Given the description of an element on the screen output the (x, y) to click on. 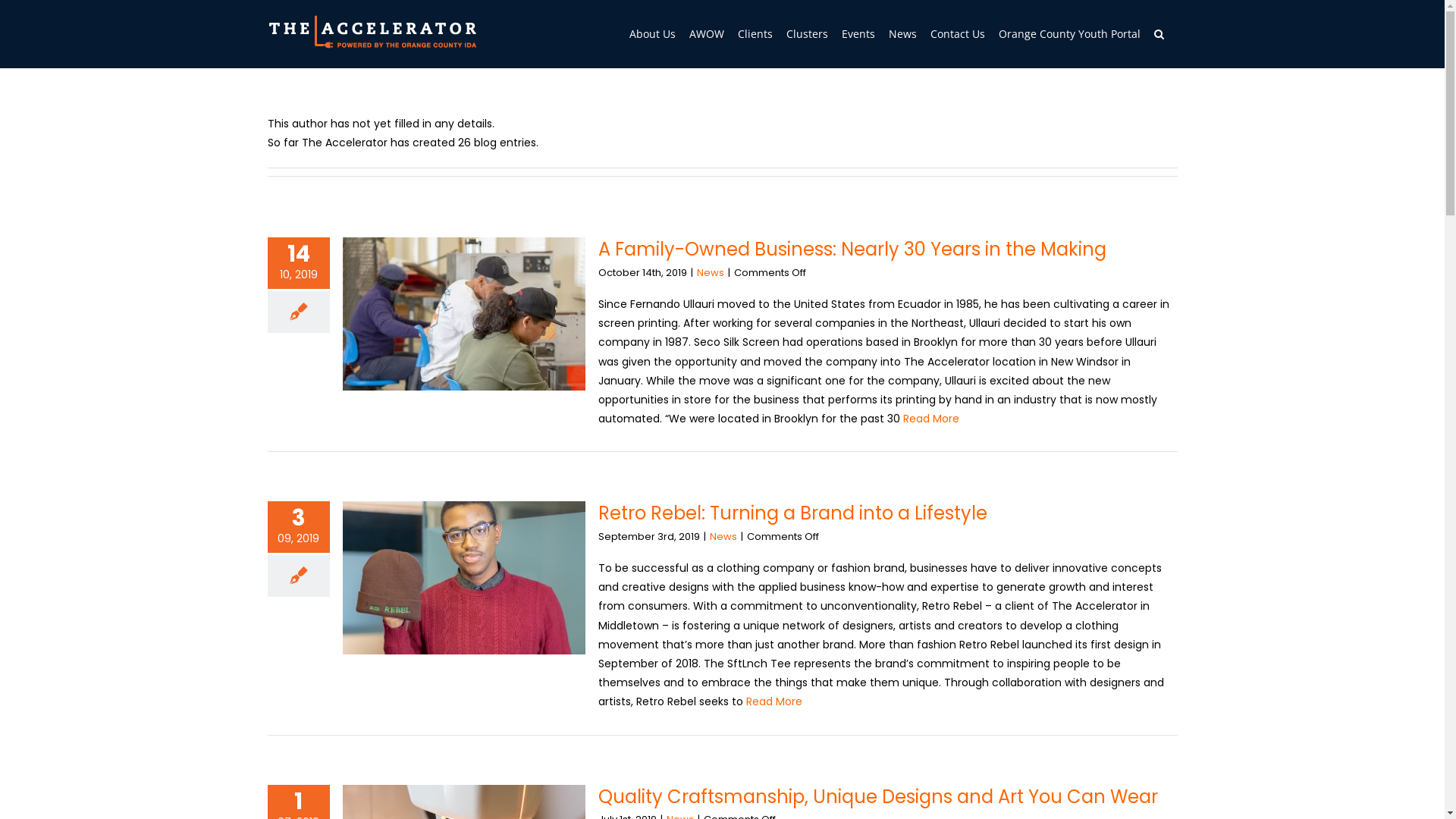
Contact Us Element type: text (956, 34)
About Us Element type: text (652, 34)
Quality Craftsmanship, Unique Designs and Art You Can Wear Element type: text (877, 796)
News Element type: text (902, 34)
A Family-Owned Business: Nearly 30 Years in the Making Element type: text (851, 248)
Read More Element type: text (930, 418)
Retro Rebel: Turning a Brand into a Lifestyle Element type: text (791, 512)
Orange County Youth Portal Element type: text (1068, 34)
Clients Element type: text (754, 34)
AWOW Element type: text (705, 34)
News Element type: text (723, 536)
Read More Element type: text (774, 701)
Clusters Element type: text (806, 34)
Events Element type: text (858, 34)
Search Element type: hover (1159, 34)
News Element type: text (709, 272)
